Given the description of an element on the screen output the (x, y) to click on. 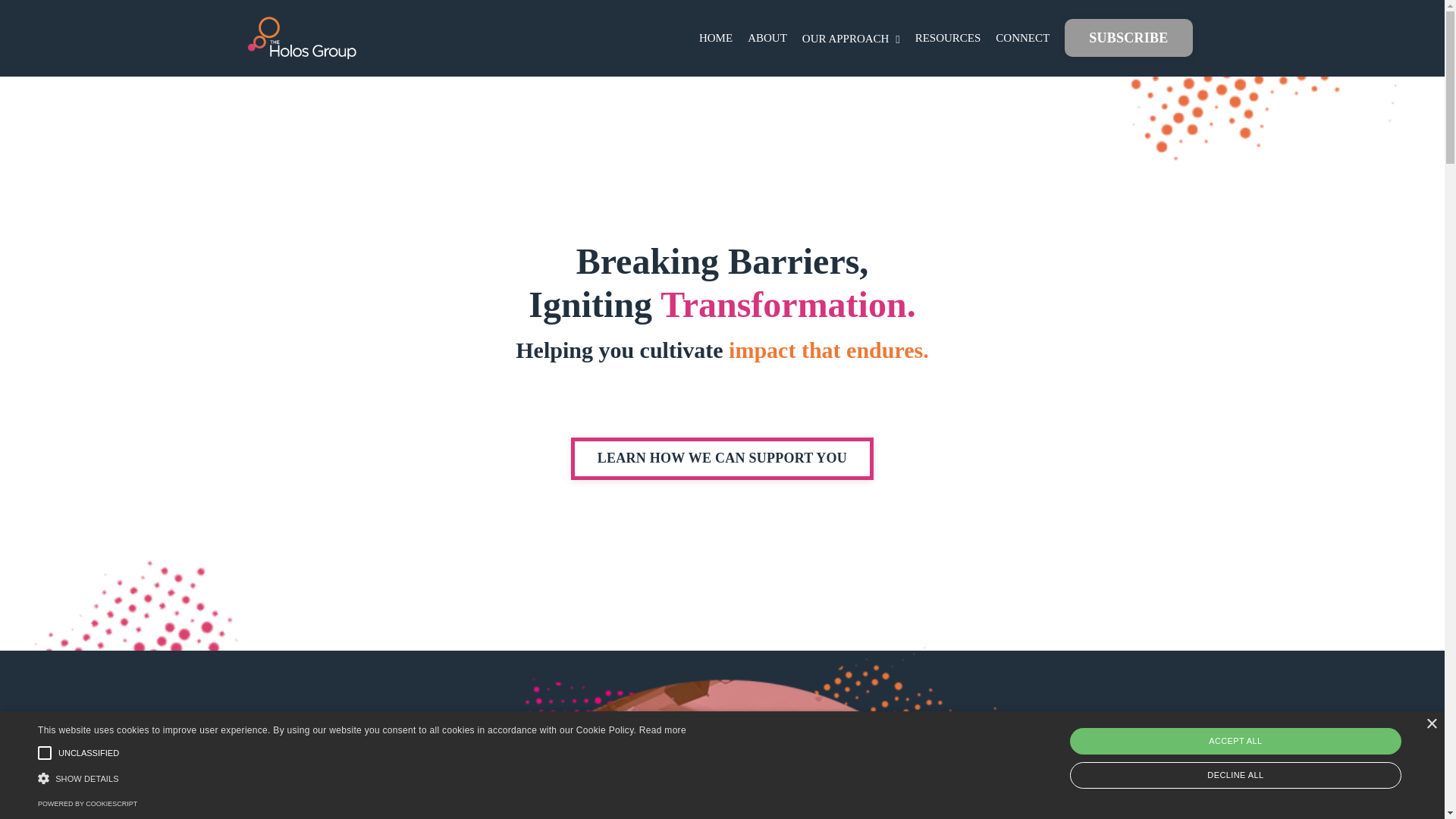
CONNECT (1022, 37)
RESOURCES (948, 37)
Consent Management Platform (86, 803)
HOME (715, 37)
ABOUT (767, 37)
OUR APPROACH (850, 38)
LEARN HOW WE CAN SUPPORT YOU (721, 458)
SUBSCRIBE (722, 38)
